Given the description of an element on the screen output the (x, y) to click on. 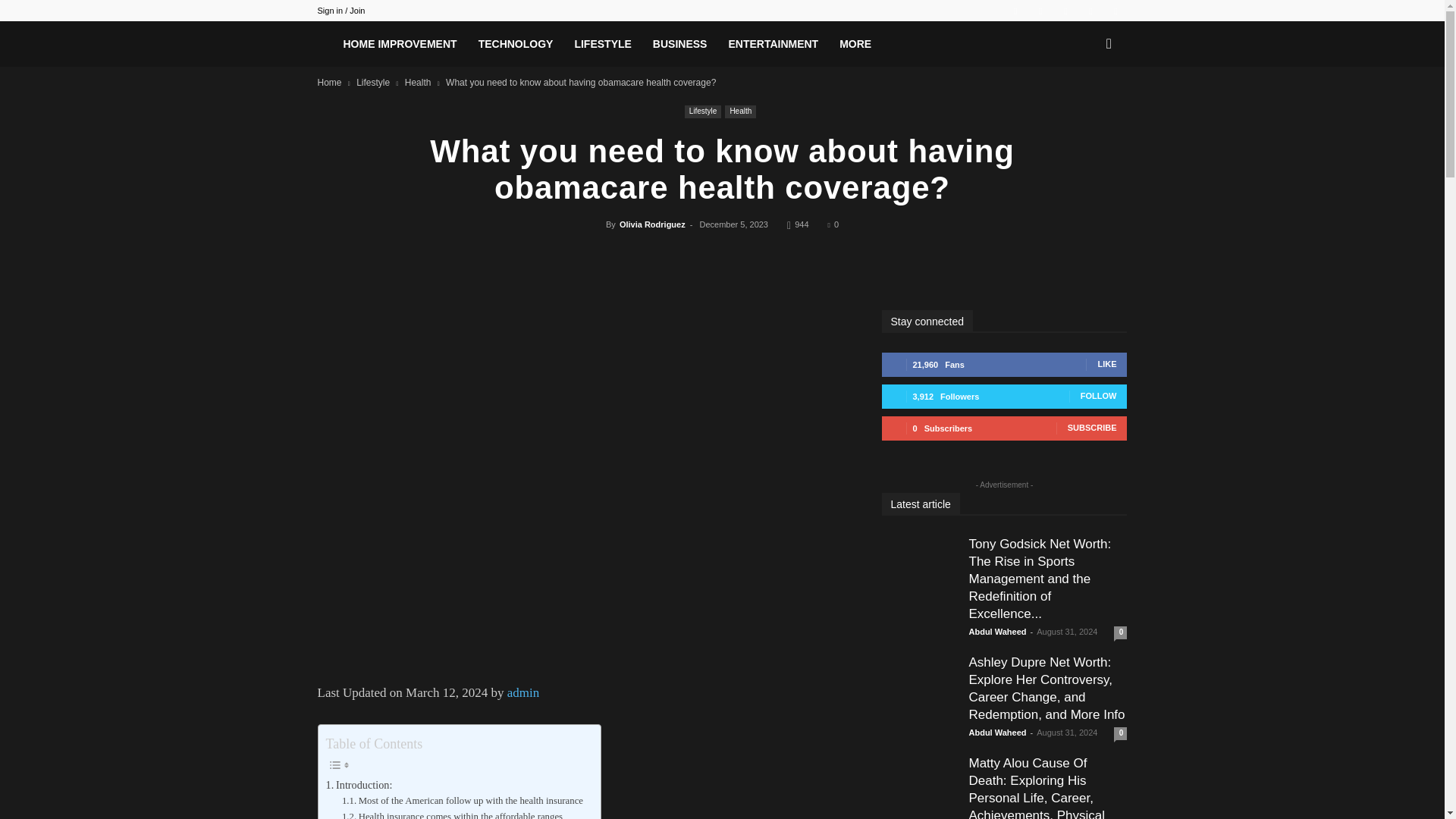
Behance (1015, 10)
HOME IMPROVEMENT (399, 43)
TECHNOLOGY (515, 43)
Digestley (324, 47)
Vimeo (1090, 10)
Facebook (1040, 10)
VKontakte (1114, 10)
View all posts in Health (417, 81)
View all posts in Lifestyle (373, 81)
Twitter (1065, 10)
